Given the description of an element on the screen output the (x, y) to click on. 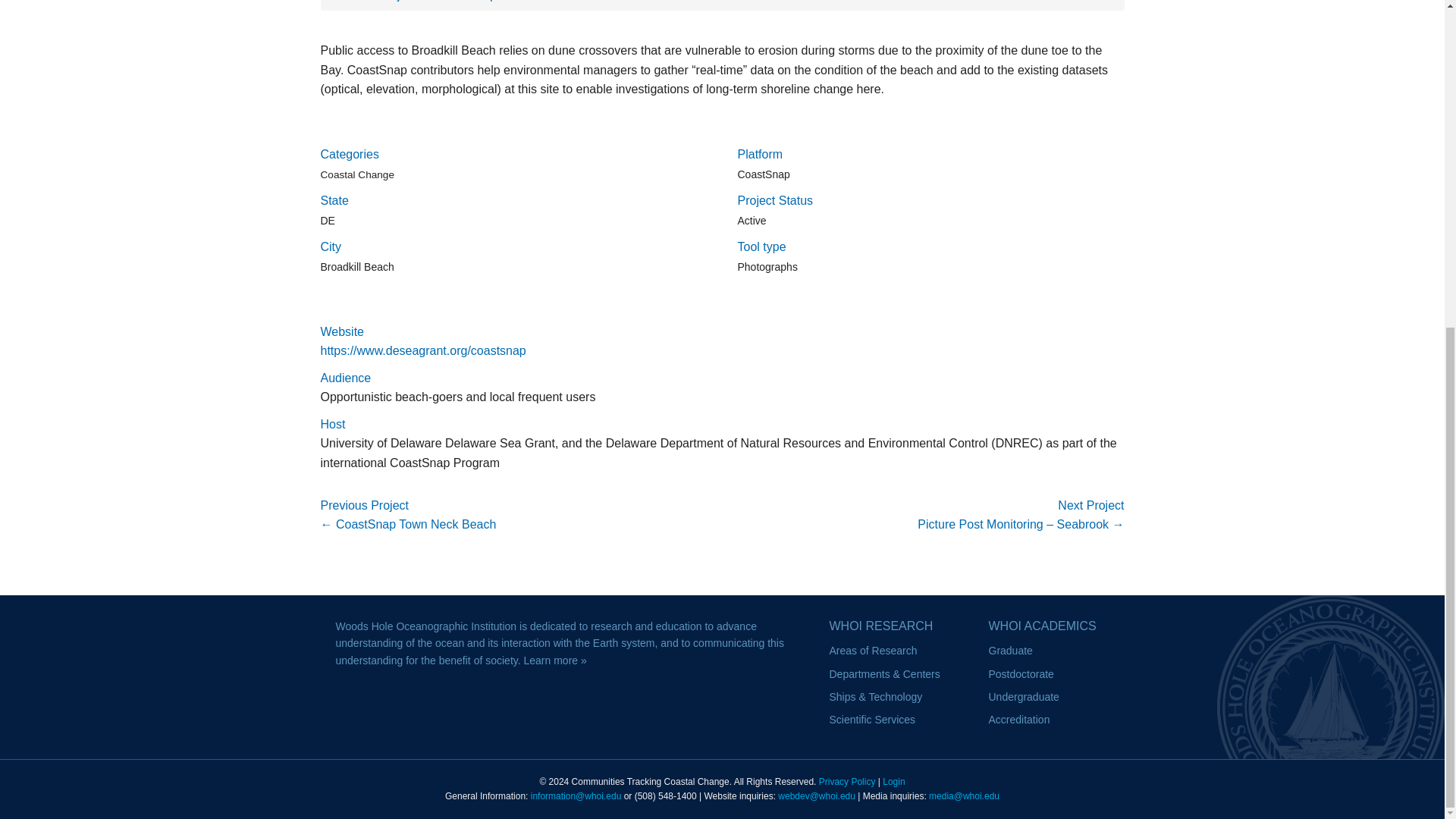
Login (893, 781)
Login (893, 781)
Privacy Policy (847, 781)
Graduate (1010, 650)
Projects (400, 0)
Undergraduate (1023, 696)
Areas of Research (873, 650)
Scientific Services (872, 719)
Postdoctorate (1021, 674)
Accreditation (1018, 719)
